Given the description of an element on the screen output the (x, y) to click on. 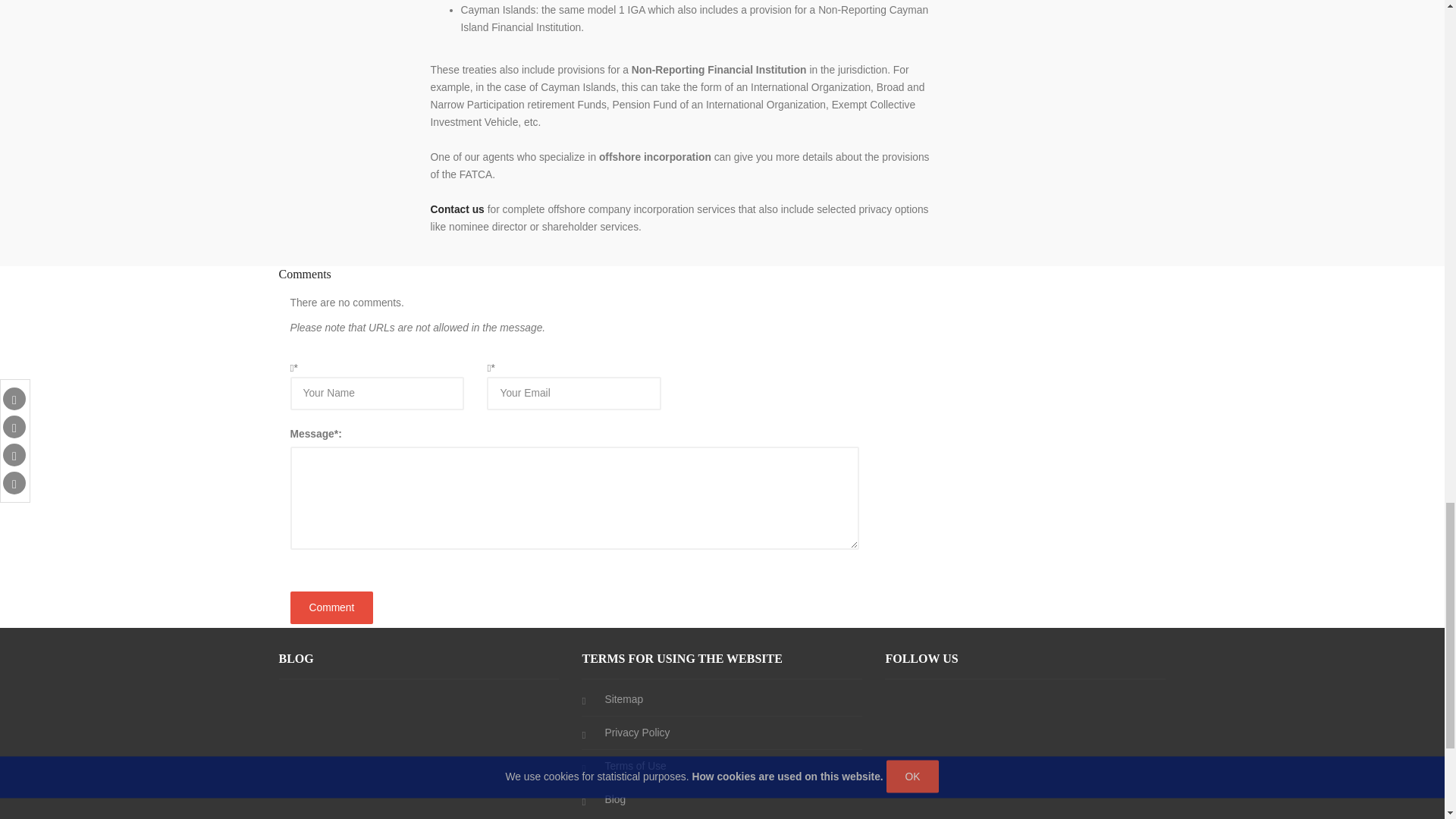
Sitemap (623, 698)
Privacy Policy (636, 731)
Terms of Use (634, 765)
Comment (330, 607)
Comment (330, 607)
Contact us (457, 208)
